Given the description of an element on the screen output the (x, y) to click on. 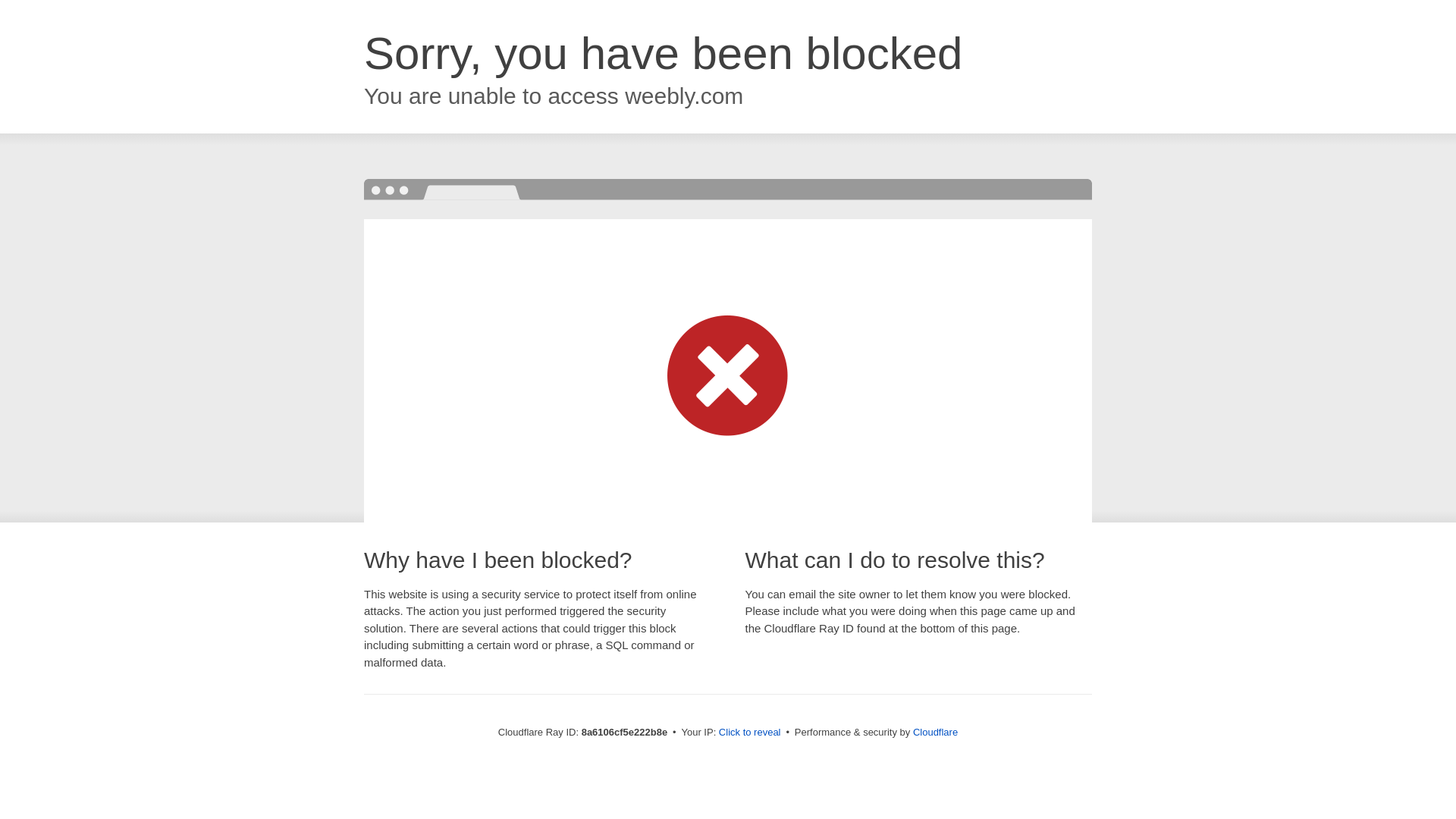
Cloudflare (935, 731)
Click to reveal (749, 732)
